Given the description of an element on the screen output the (x, y) to click on. 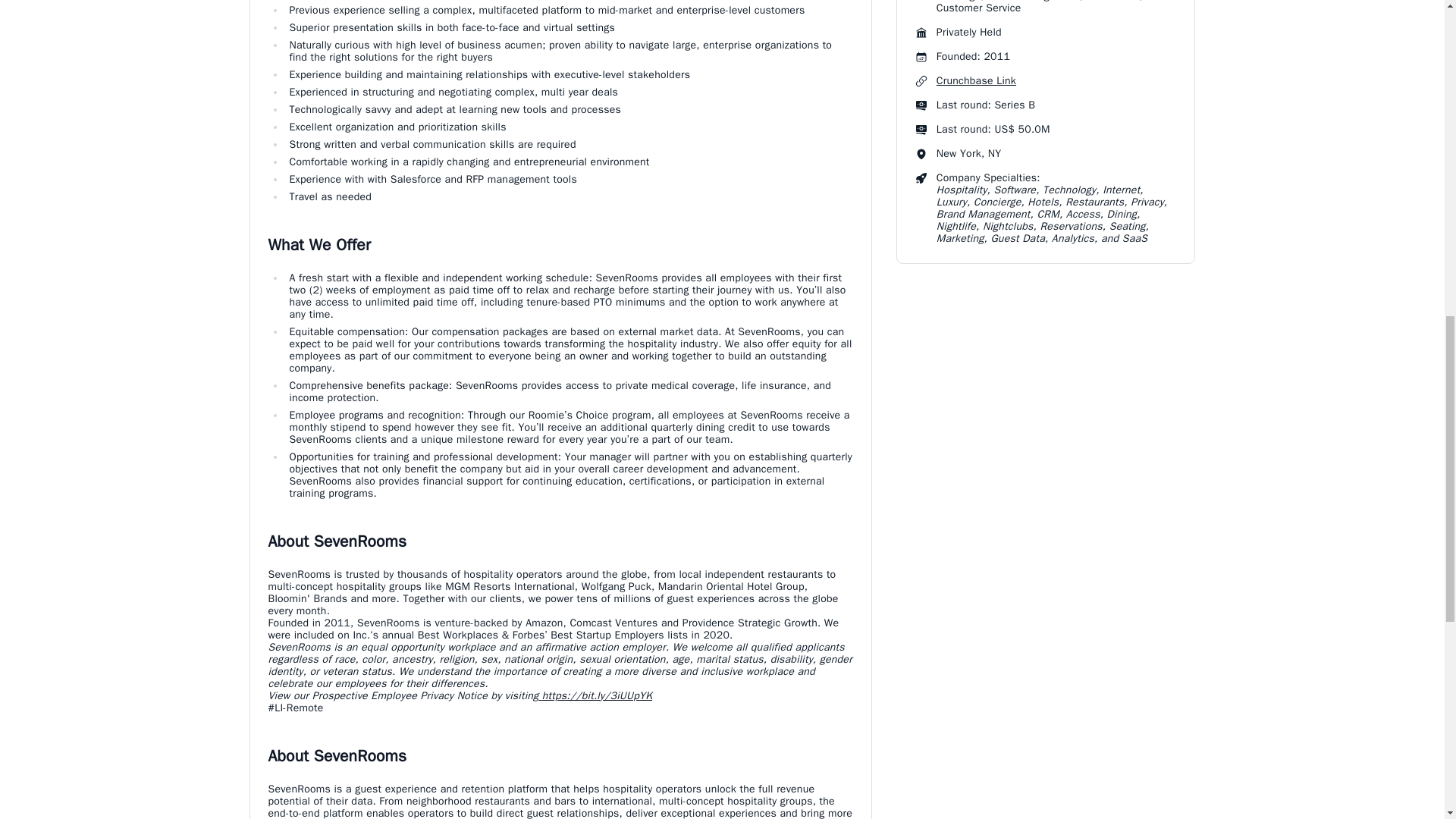
Crunchbase Link (976, 80)
